Given the description of an element on the screen output the (x, y) to click on. 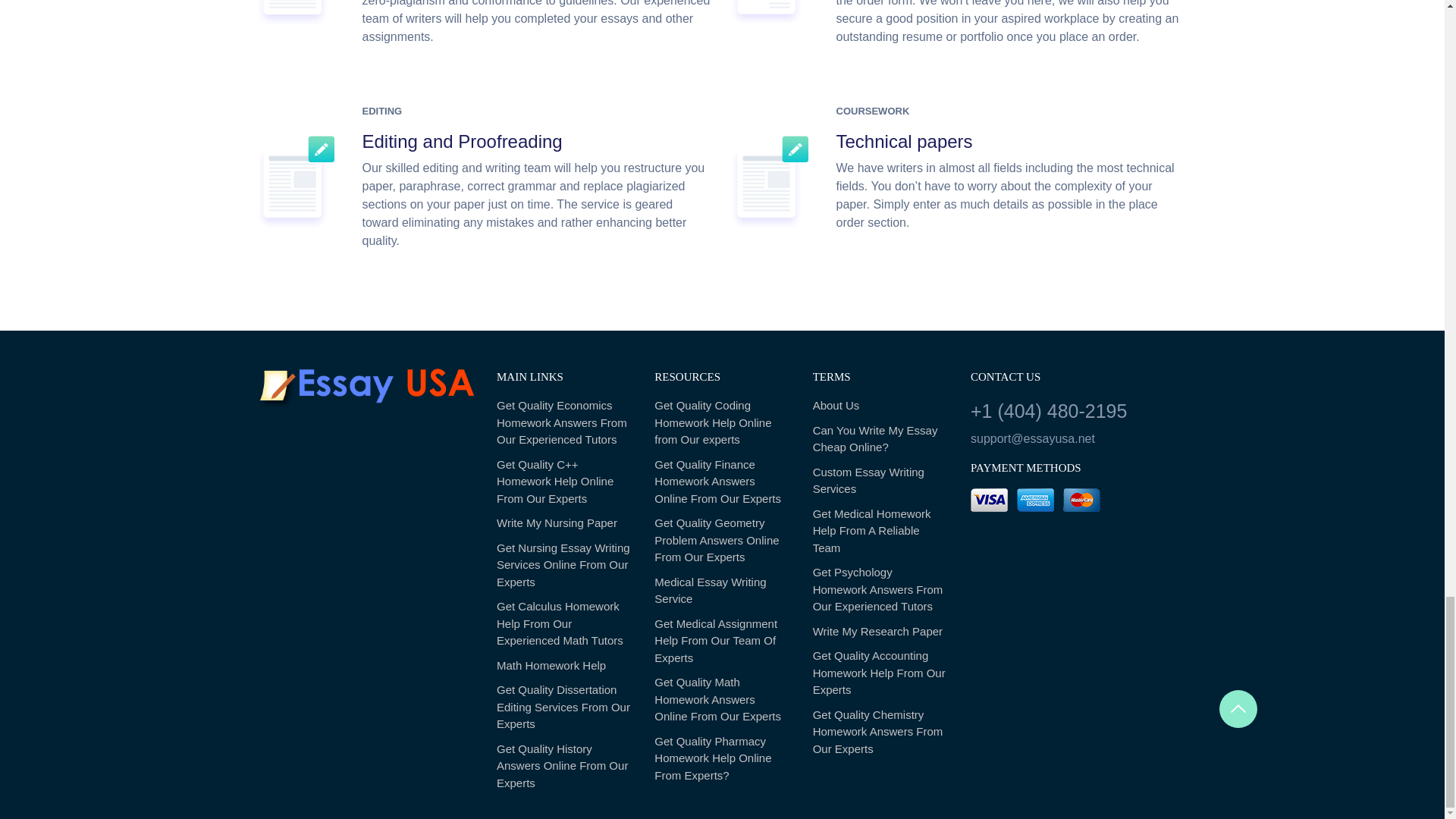
Medical Essay Writing Service (721, 591)
Get Medical Assignment Help From Our Team Of Experts (721, 641)
Write My Nursing Paper (563, 523)
Get Quality History Answers Online From Our Experts (563, 766)
Can You Write My Essay Cheap Online? (879, 439)
Write My Nursing Paper (563, 523)
Get Quality Coding Homework Help Online from Our experts (721, 422)
Get Quality Math Homework Answers Online From Our Experts (721, 699)
Get Calculus Homework Help From Our Experienced Math Tutors (563, 624)
